Given the description of an element on the screen output the (x, y) to click on. 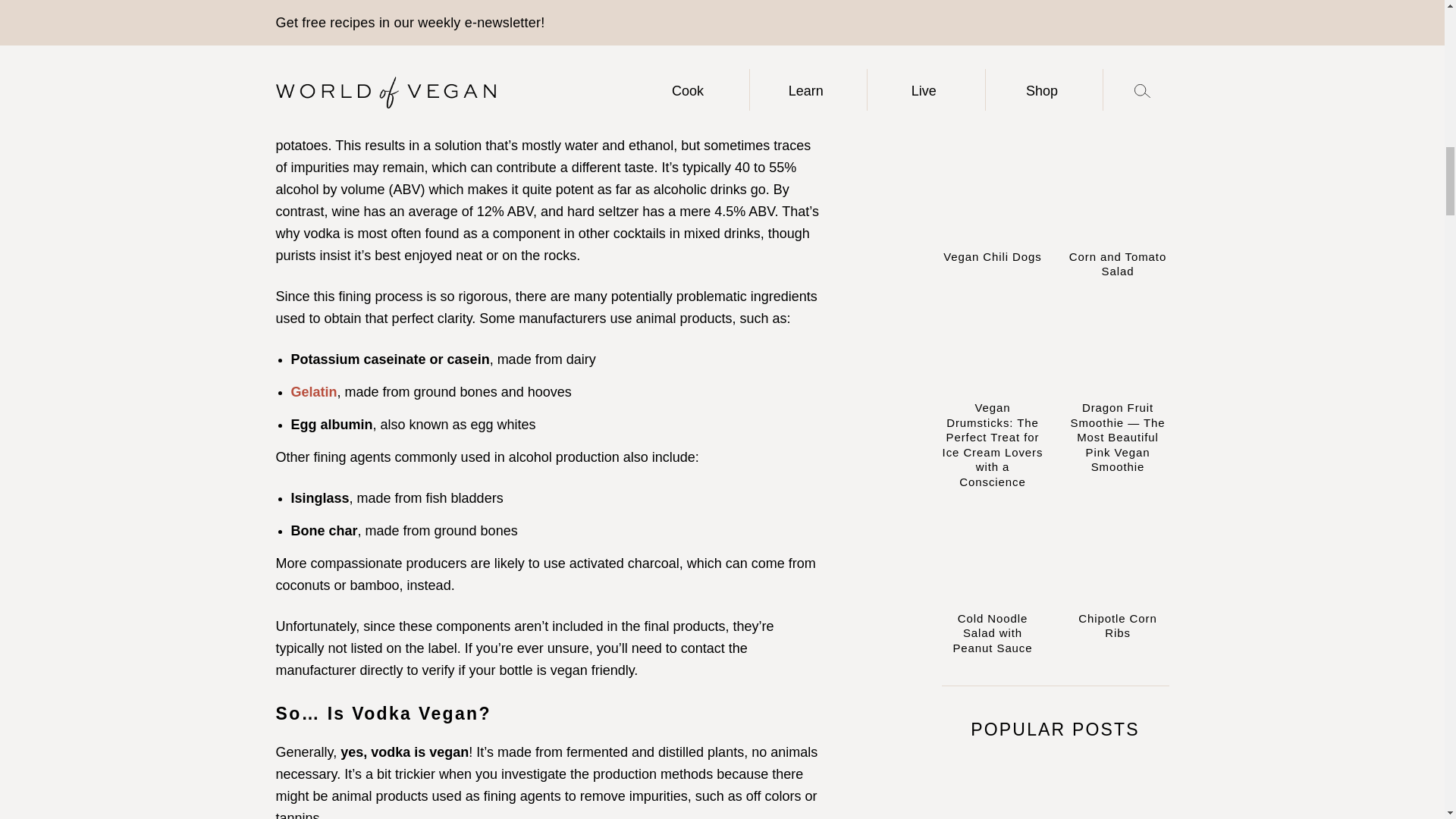
Gelatin (314, 391)
Vodka Cocktails You Want to Raise a Toast With (456, 30)
Other Vegan Vodka FAQs (384, 9)
